Given the description of an element on the screen output the (x, y) to click on. 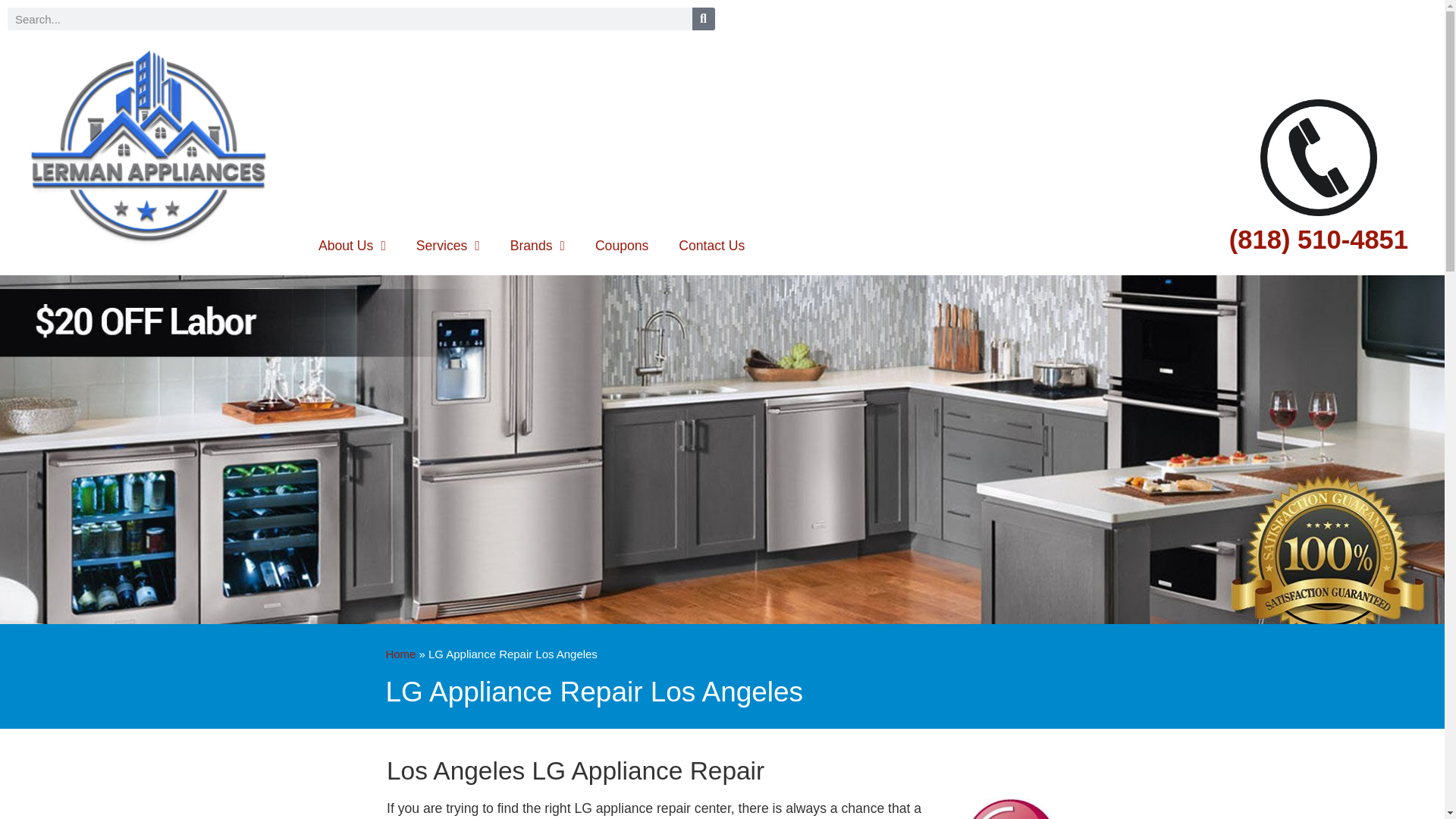
Brands (537, 245)
Services (448, 245)
About Us (351, 245)
Los Angeles LG appliance repair (1010, 808)
